Given the description of an element on the screen output the (x, y) to click on. 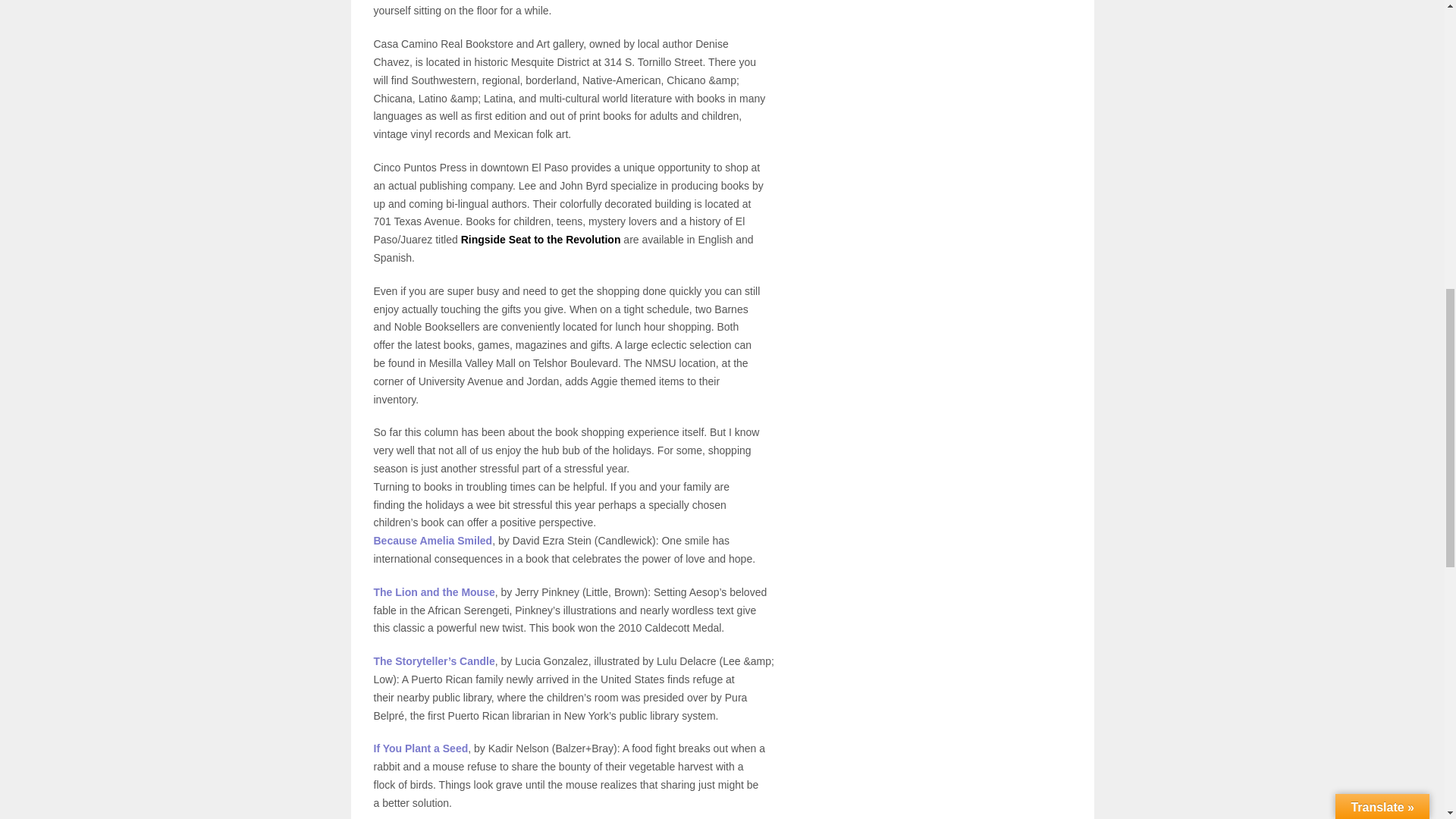
The Lion and the Mouse (433, 592)
Because Amelia Smiled (432, 540)
If You Plant a Seed (419, 748)
